Given the description of an element on the screen output the (x, y) to click on. 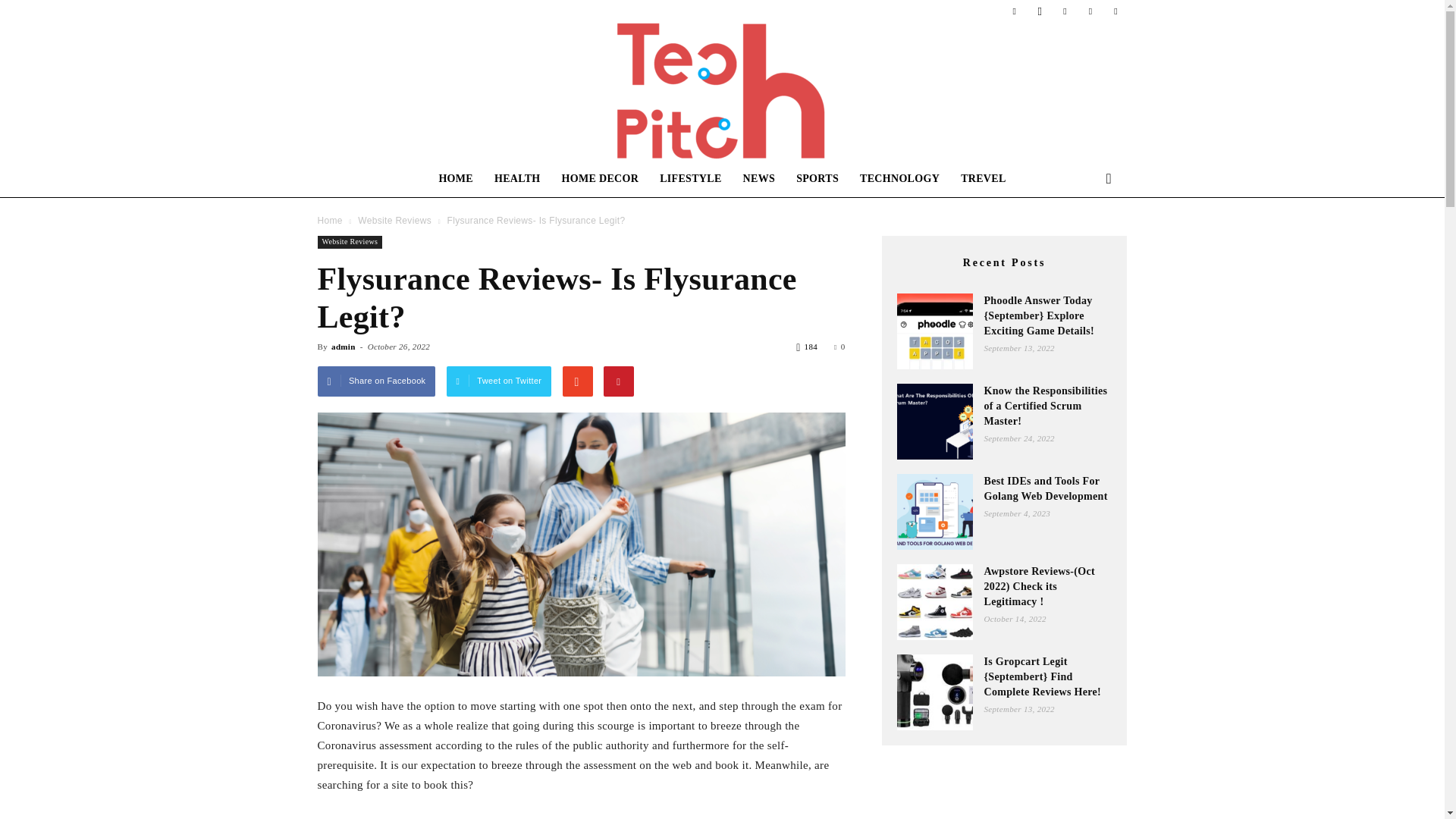
Youtube (1114, 10)
LIFESTYLE (690, 178)
HOME DECOR (600, 178)
TREVEL (983, 178)
HEALTH (517, 178)
Website Reviews (394, 220)
Website Reviews (349, 241)
Facebook (1014, 10)
HOME (455, 178)
Instagram (1039, 10)
